Given the description of an element on the screen output the (x, y) to click on. 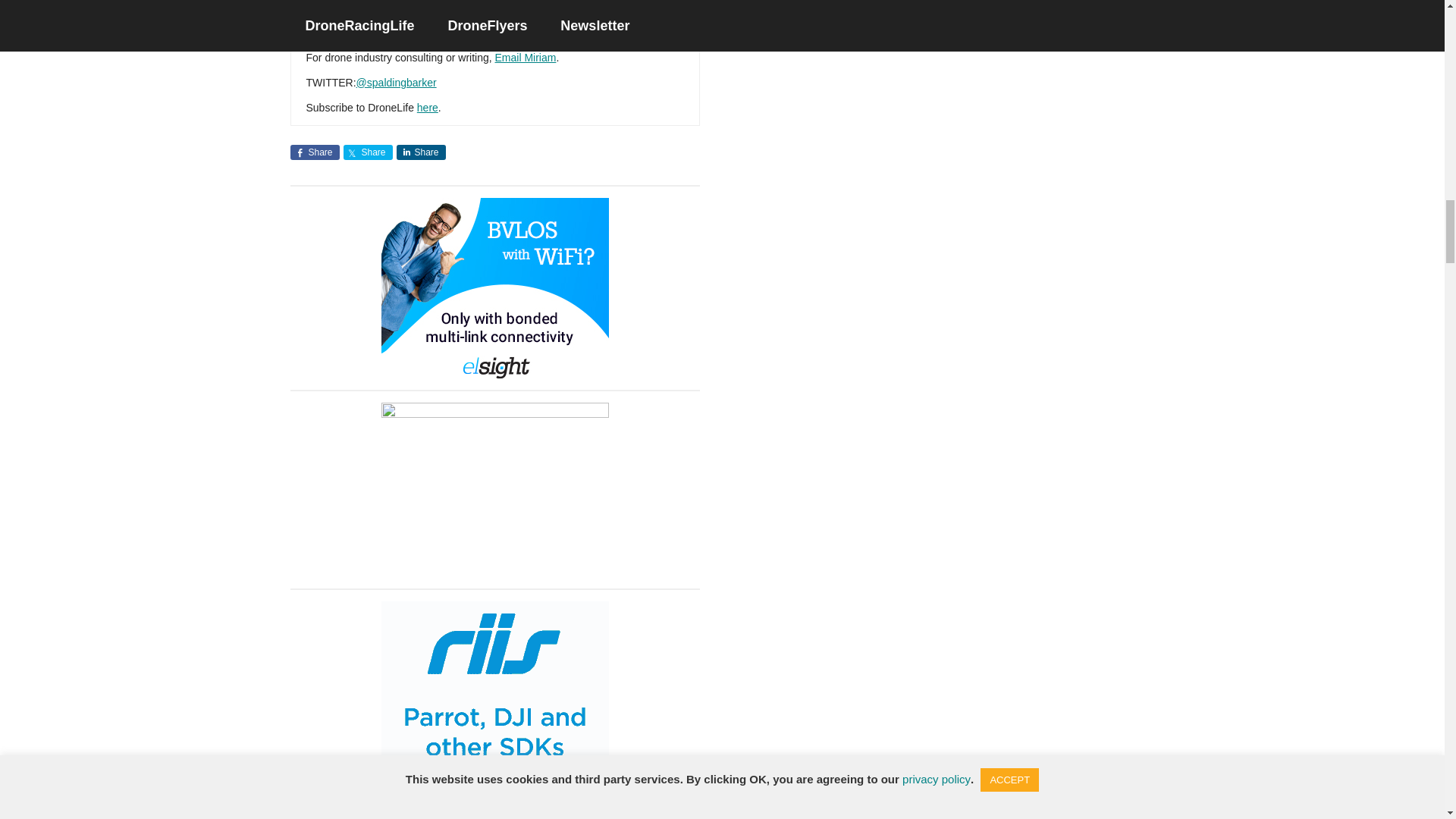
Email Miriam (525, 57)
